Given the description of an element on the screen output the (x, y) to click on. 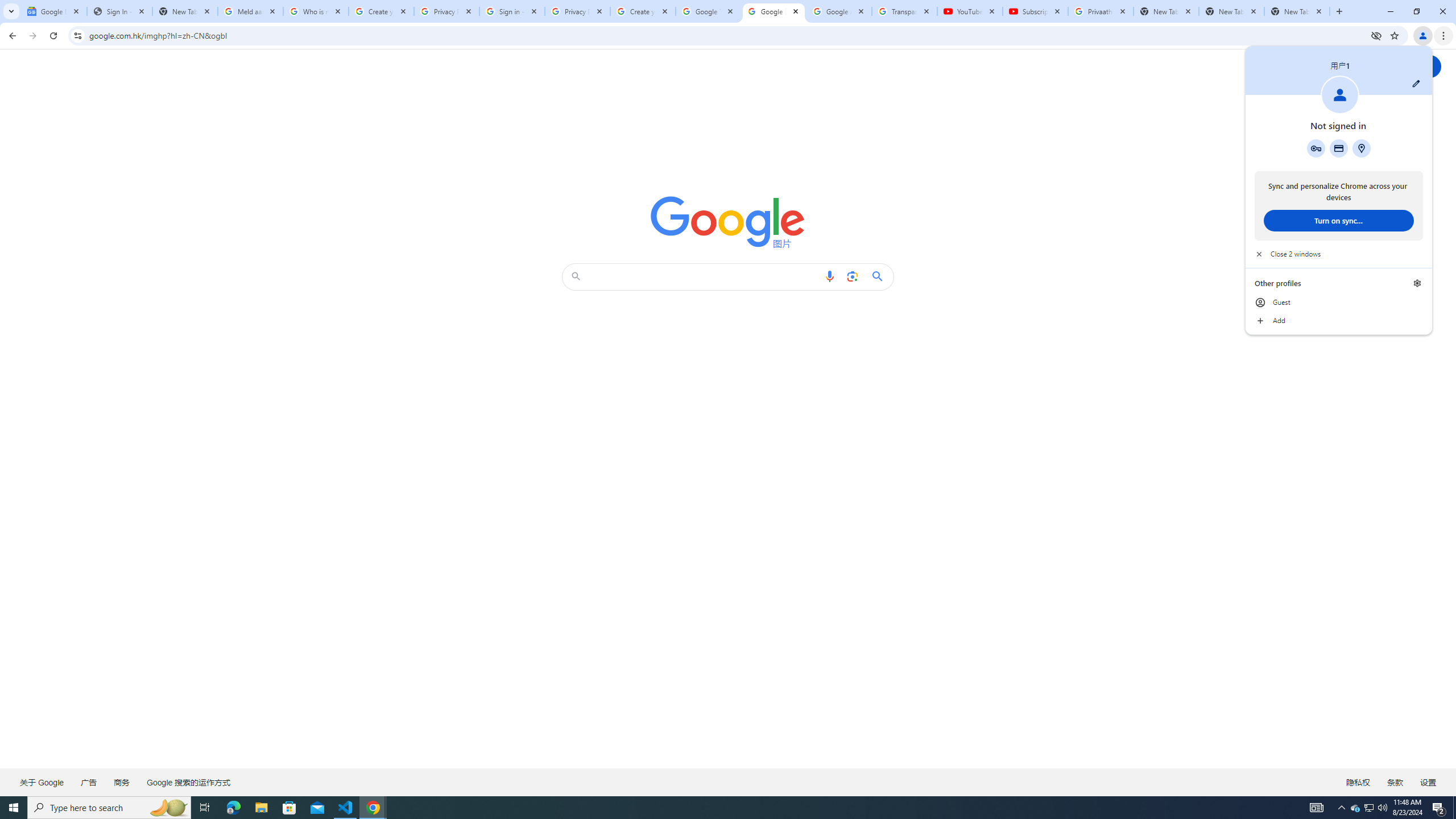
Sign in - Google Accounts (512, 11)
Add (1338, 321)
Notification Chevron (1341, 807)
Google Account (838, 11)
